Given the description of an element on the screen output the (x, y) to click on. 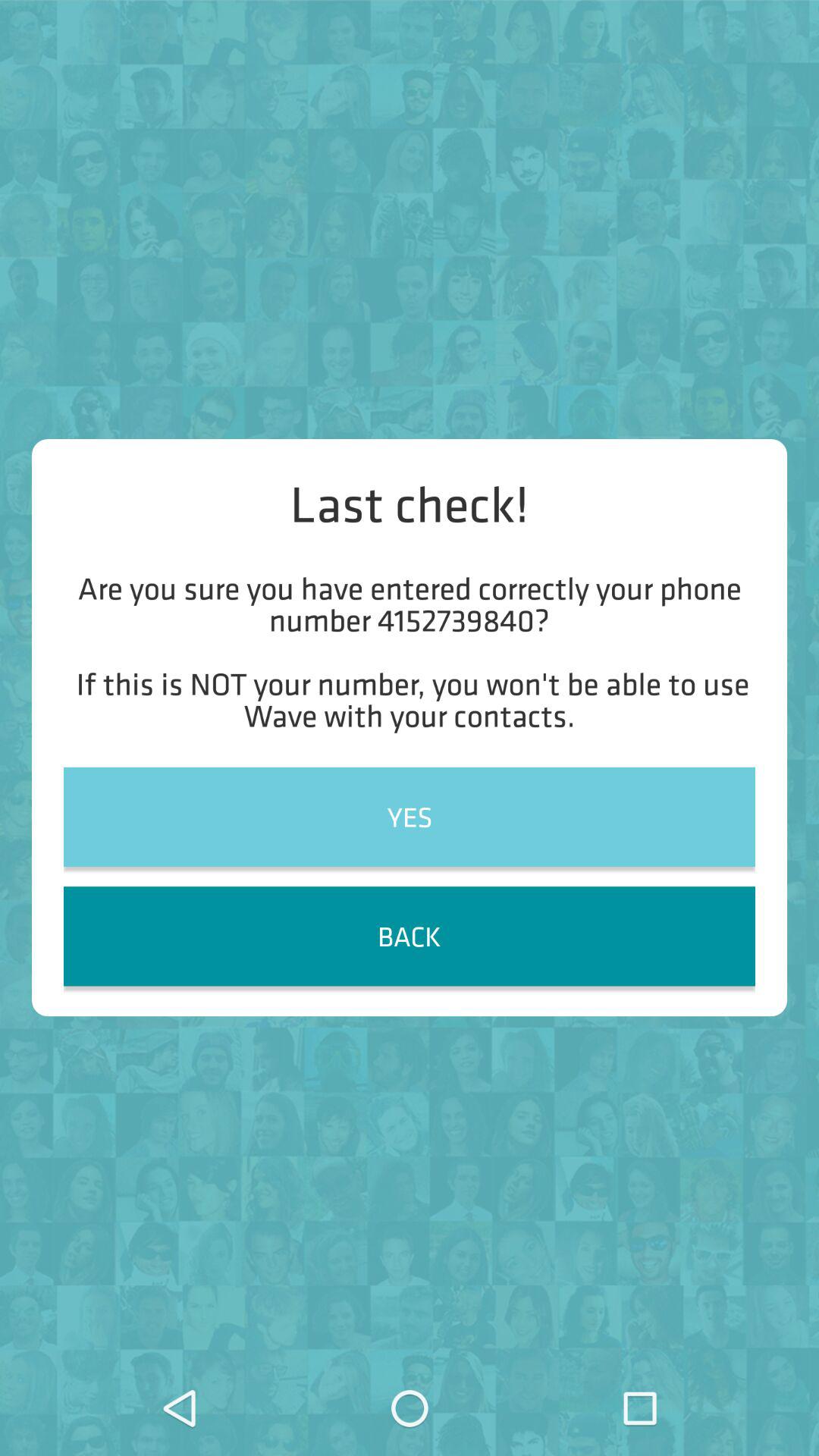
turn on the icon above the back (409, 816)
